Given the description of an element on the screen output the (x, y) to click on. 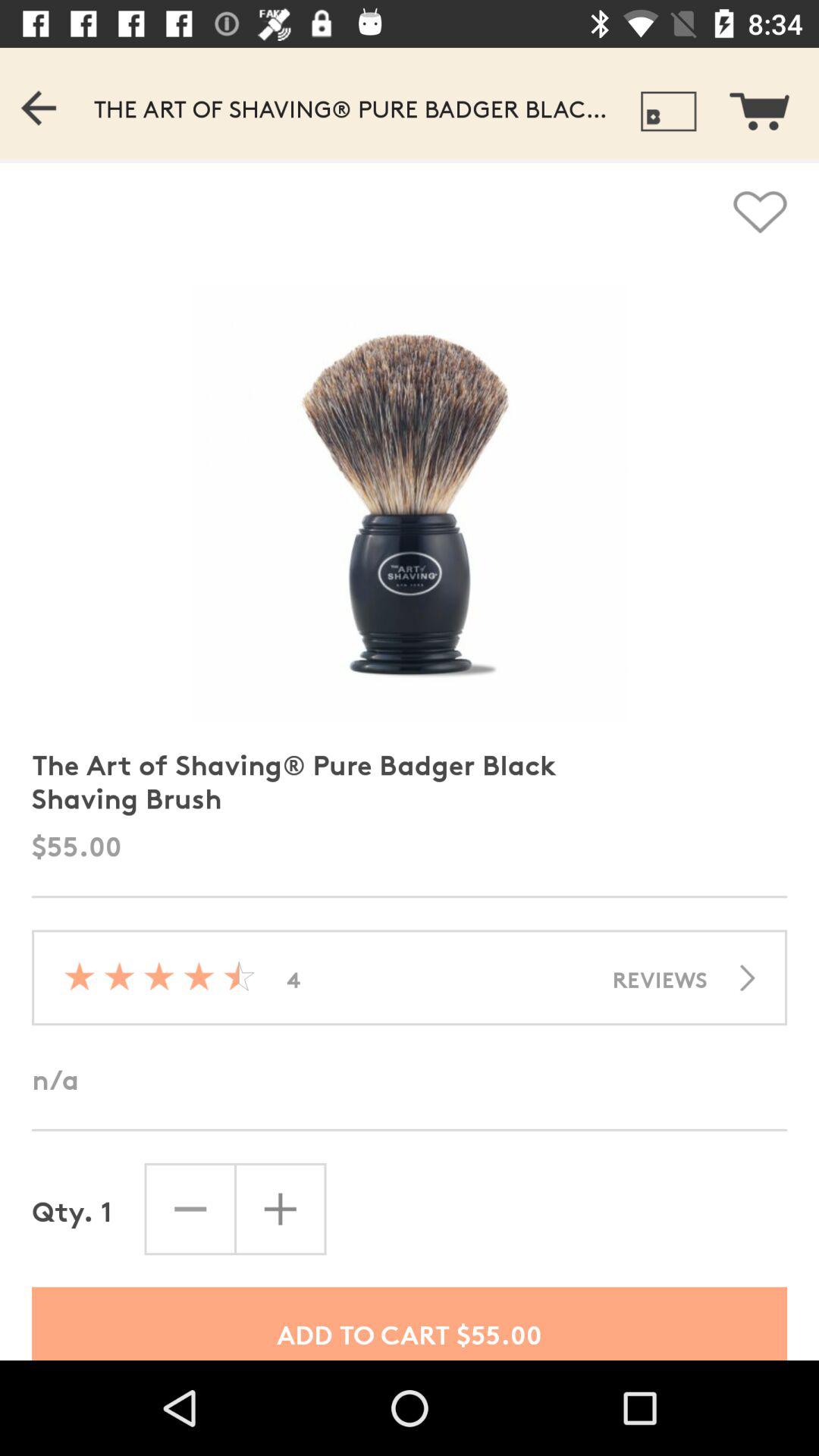
view cart (769, 103)
